Given the description of an element on the screen output the (x, y) to click on. 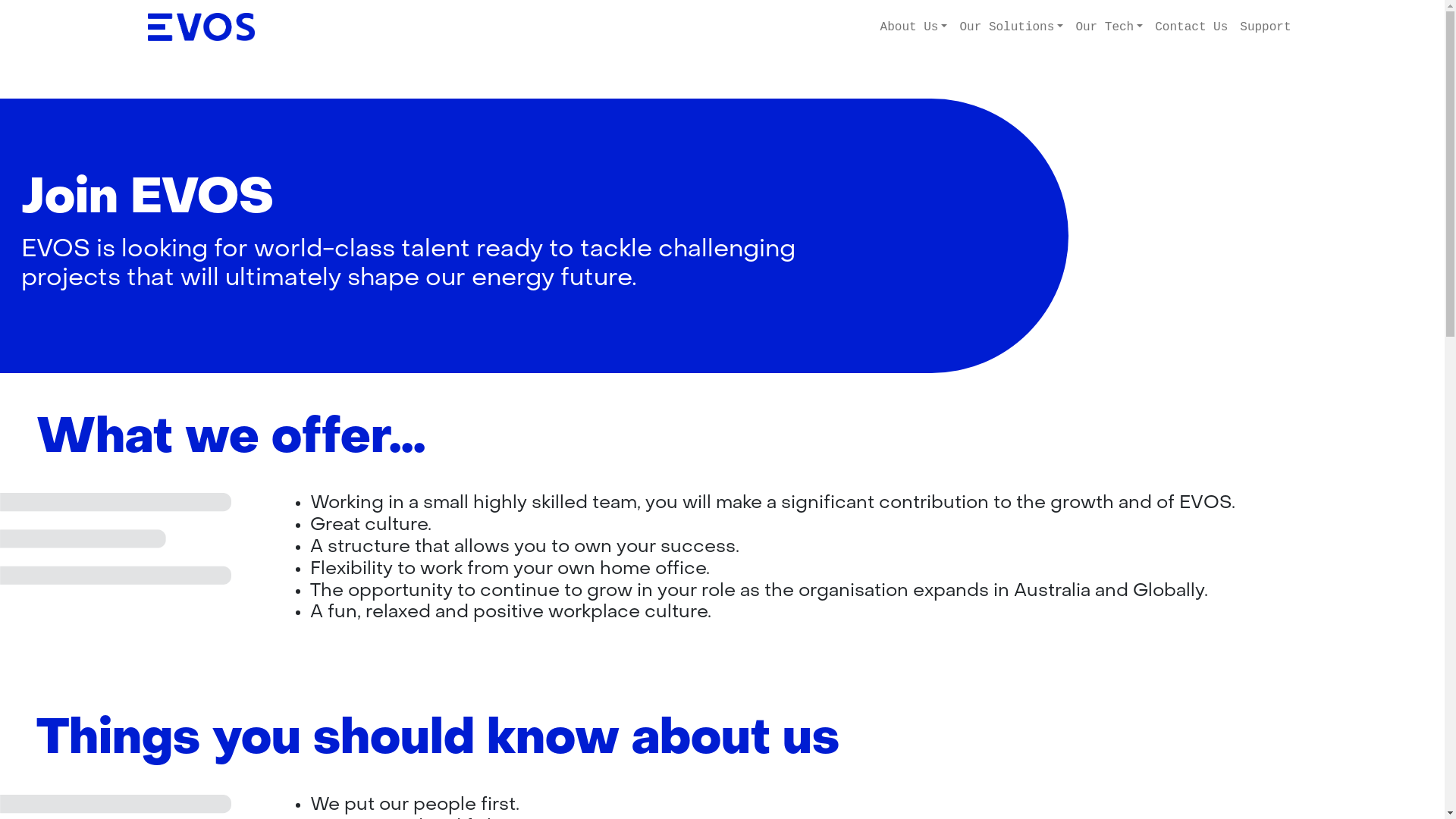
Our Tech Element type: text (1108, 27)
Support Element type: text (1264, 27)
Contact Us Element type: text (1190, 27)
Our Solutions Element type: text (1011, 27)
About Us Element type: text (913, 27)
